Given the description of an element on the screen output the (x, y) to click on. 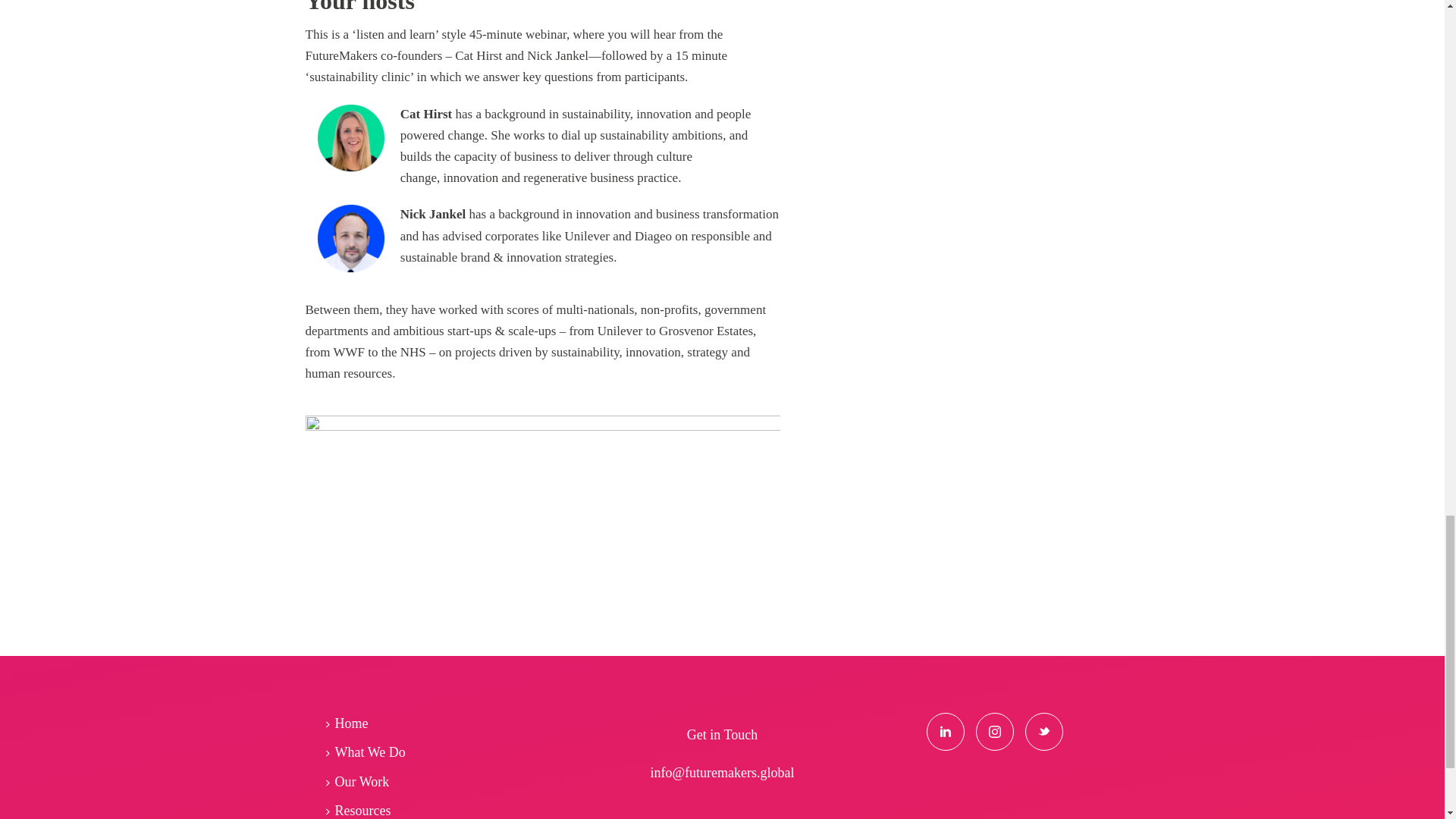
fm-headshots-nick (351, 237)
Follow Us on... twitter (1043, 731)
Follow Us on... linkedin (944, 731)
fm-headshots-cat (351, 137)
Home (349, 723)
fm-worked-with-logos-panel (542, 492)
Our Work (360, 781)
Resources (361, 807)
What We Do (368, 751)
Follow Us on... instagram (994, 731)
